Given the description of an element on the screen output the (x, y) to click on. 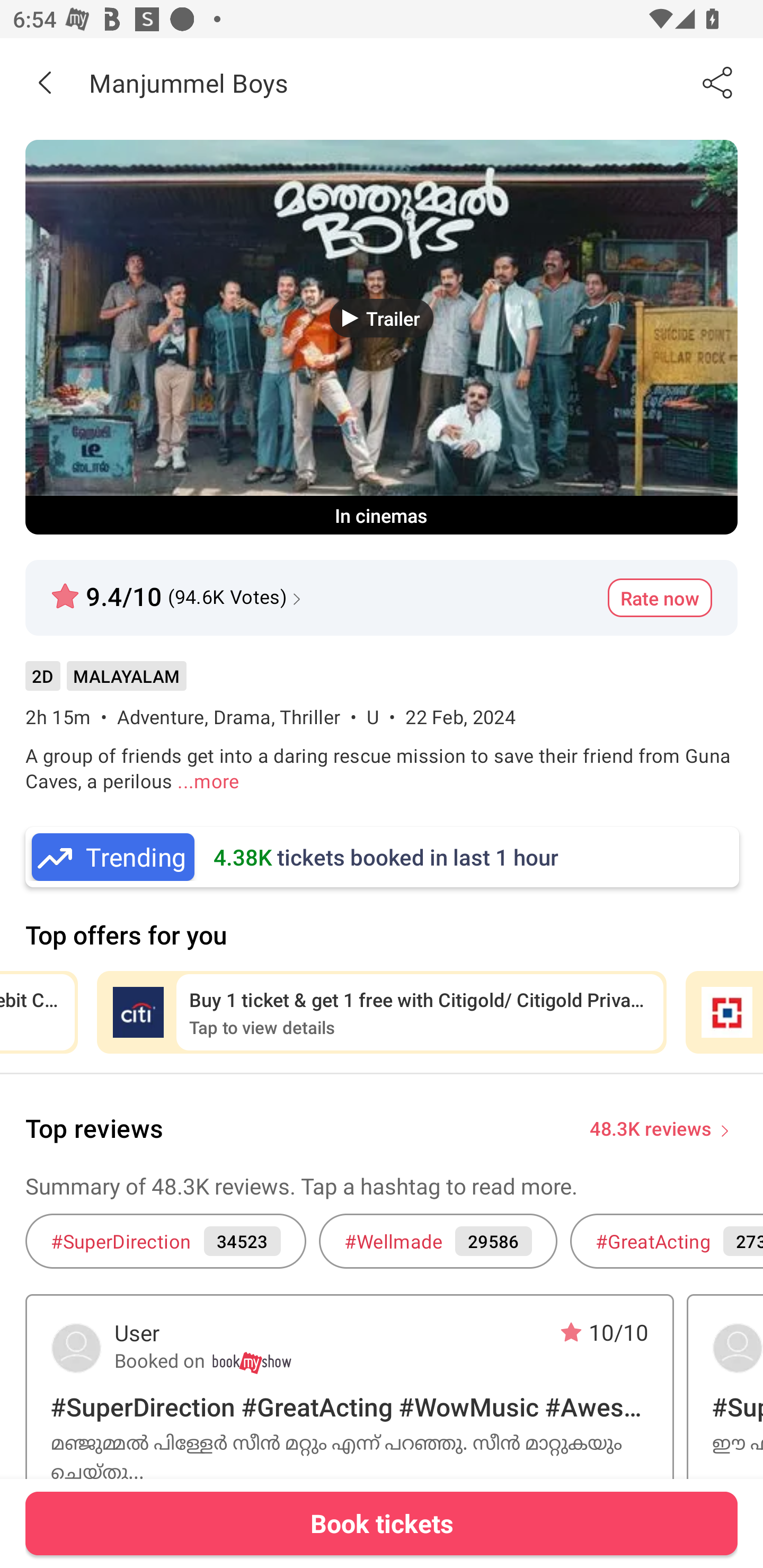
Back (44, 82)
Share (718, 82)
Movie Banner Trailer In cinemas (381, 336)
Trailer (381, 318)
9.4/10 (94.6K Votes) (178, 589)
Rate now (659, 597)
2D MALAYALAM (105, 682)
48.3K reviews (650, 1127)
#SuperDirection 34523 (165, 1240)
#Wellmade 29586 (437, 1240)
#GreatActing 27306 (666, 1240)
Book tickets (381, 1523)
